Given the description of an element on the screen output the (x, y) to click on. 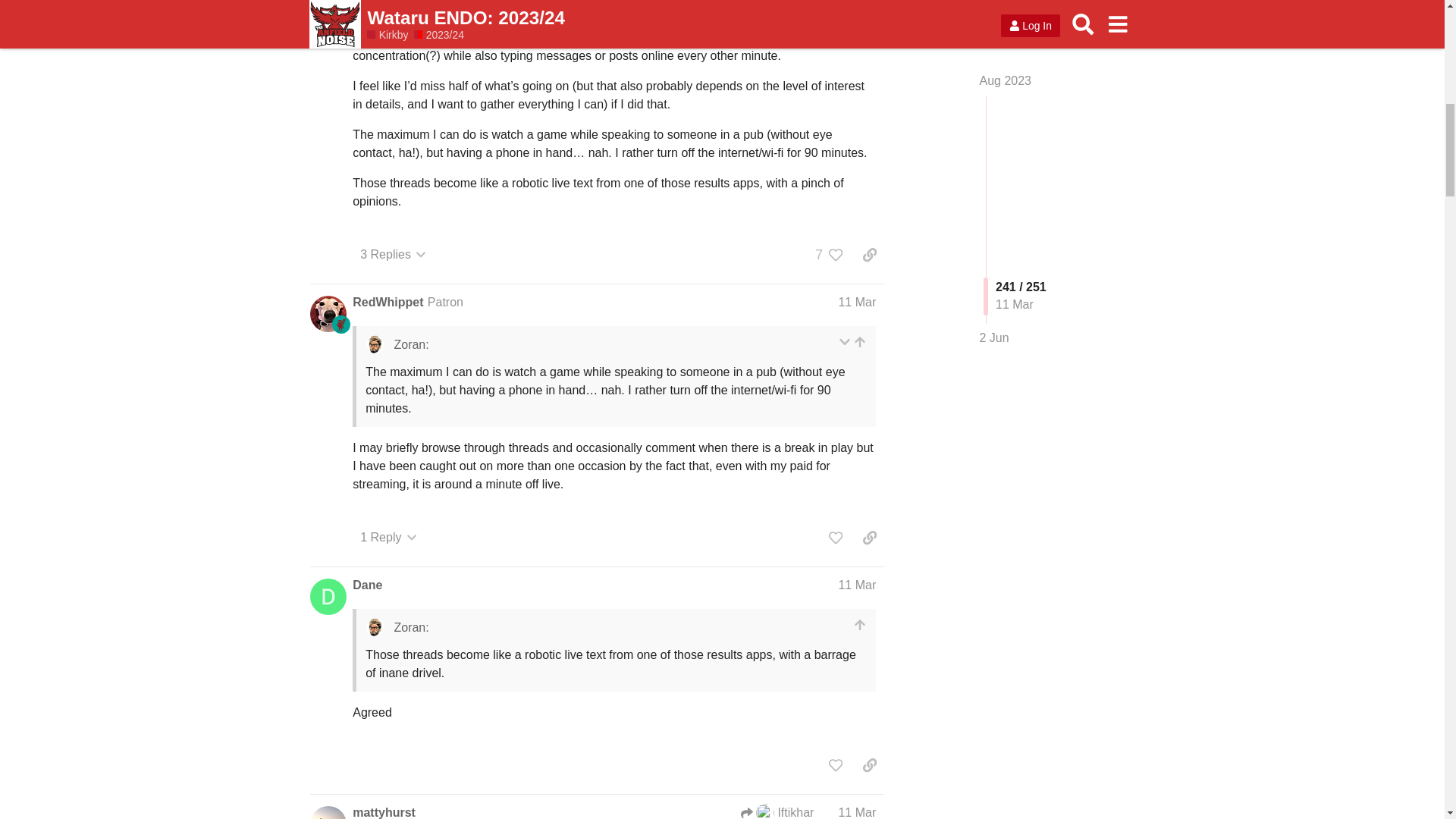
3 Replies (392, 254)
11 Mar (857, 5)
Zoran (368, 6)
